Given the description of an element on the screen output the (x, y) to click on. 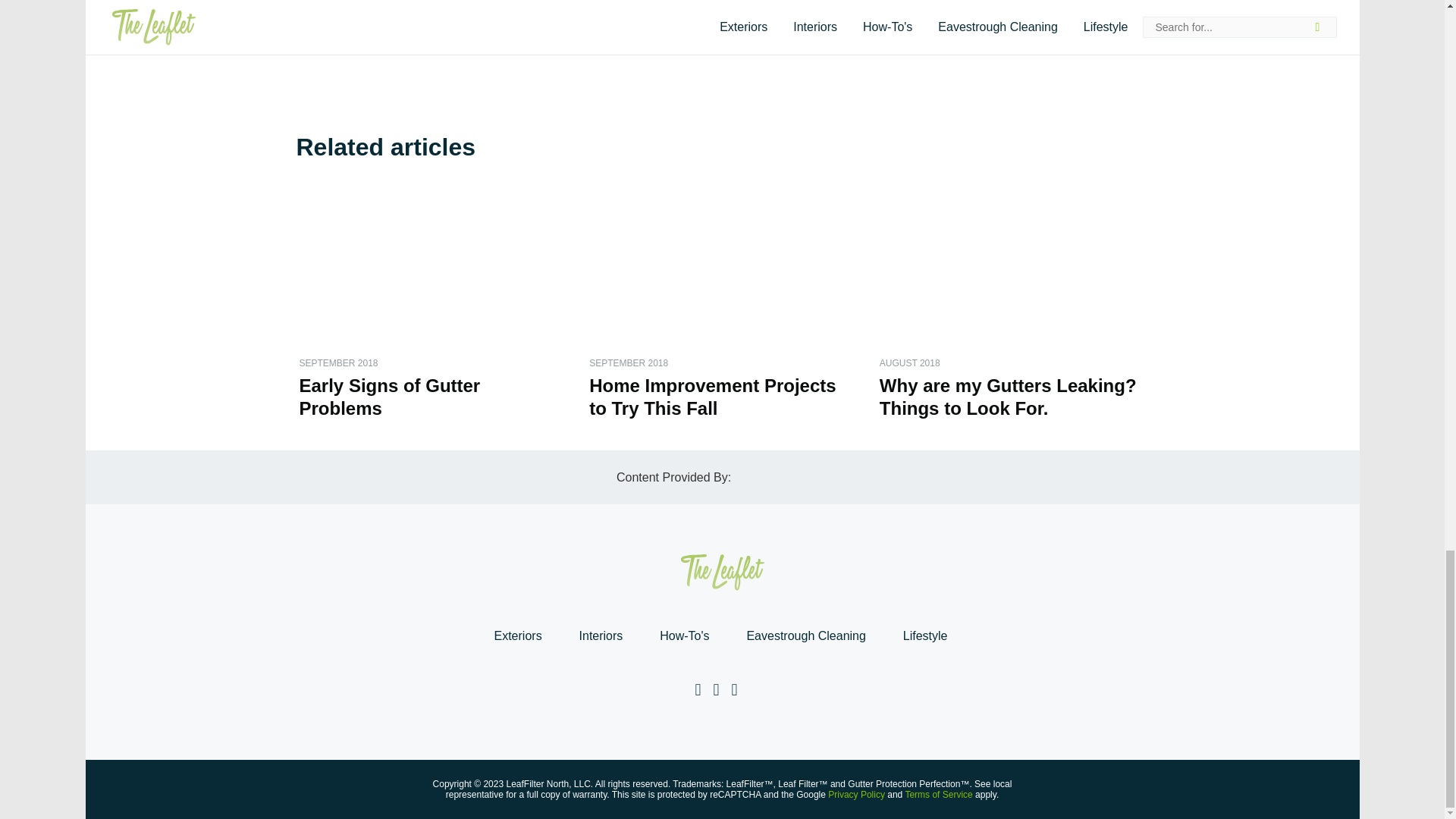
Interiors (600, 635)
Interiors (600, 635)
request a free estimate (721, 44)
Eavestrough Cleaning (805, 635)
Lifestyle (925, 635)
Exteriors (517, 635)
Exteriors (517, 635)
Lifestyle (925, 635)
How-To's (683, 635)
Terms of Service (938, 794)
How-To's (683, 635)
Privacy Policy (856, 794)
Eavestrough Cleaning (805, 635)
